Given the description of an element on the screen output the (x, y) to click on. 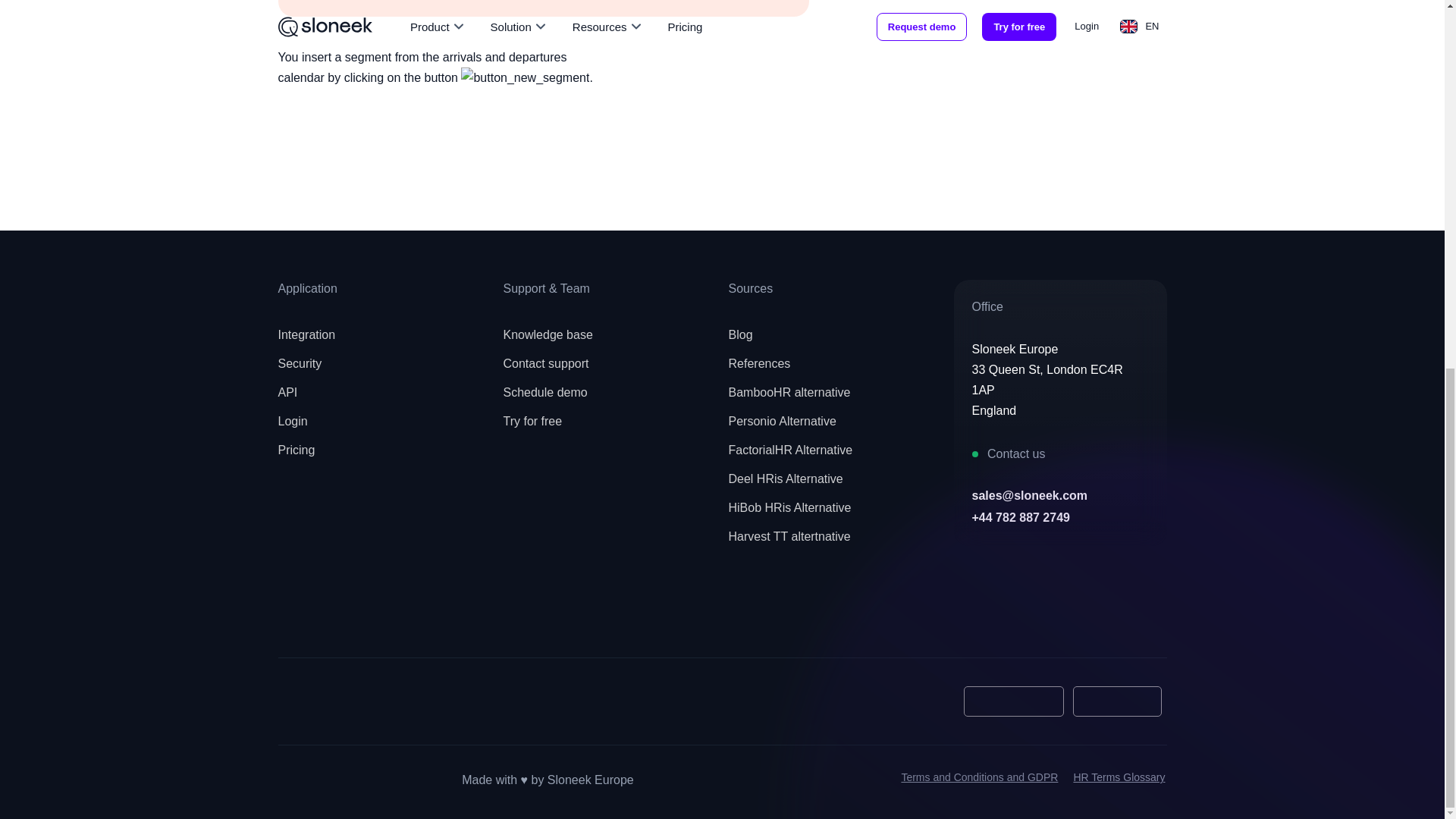
linkedin (433, 613)
audioboom (500, 613)
youtube (367, 613)
Capterra (324, 700)
facebook (300, 613)
